Given the description of an element on the screen output the (x, y) to click on. 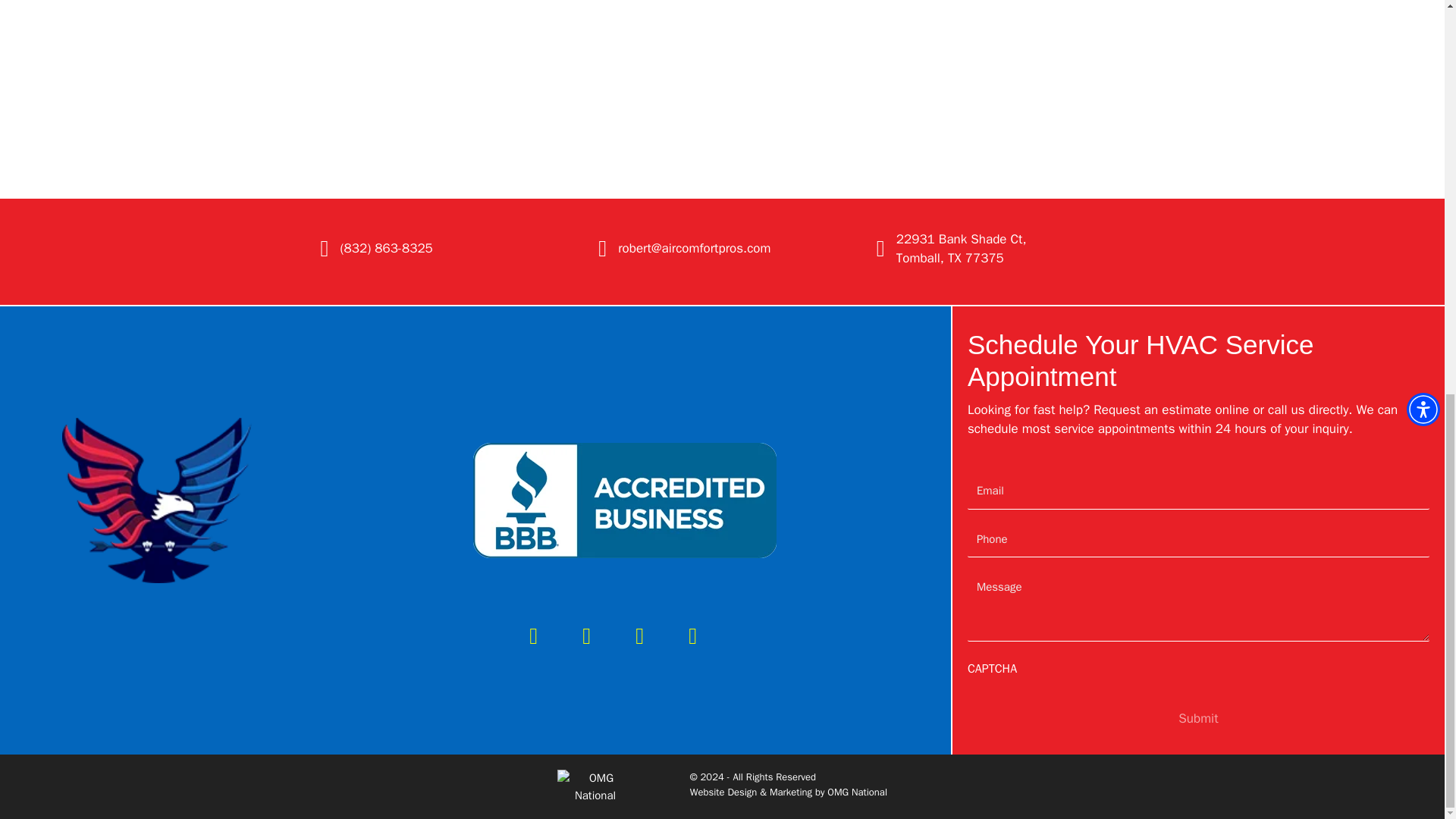
Submit (1197, 719)
Instagram (692, 636)
OMG National (856, 791)
22931 Bank Shade Ct, (961, 238)
Facebook (533, 636)
Air Comfort Solutions (156, 500)
Air Comfort Solutions (624, 500)
Submit (1197, 719)
